Given the description of an element on the screen output the (x, y) to click on. 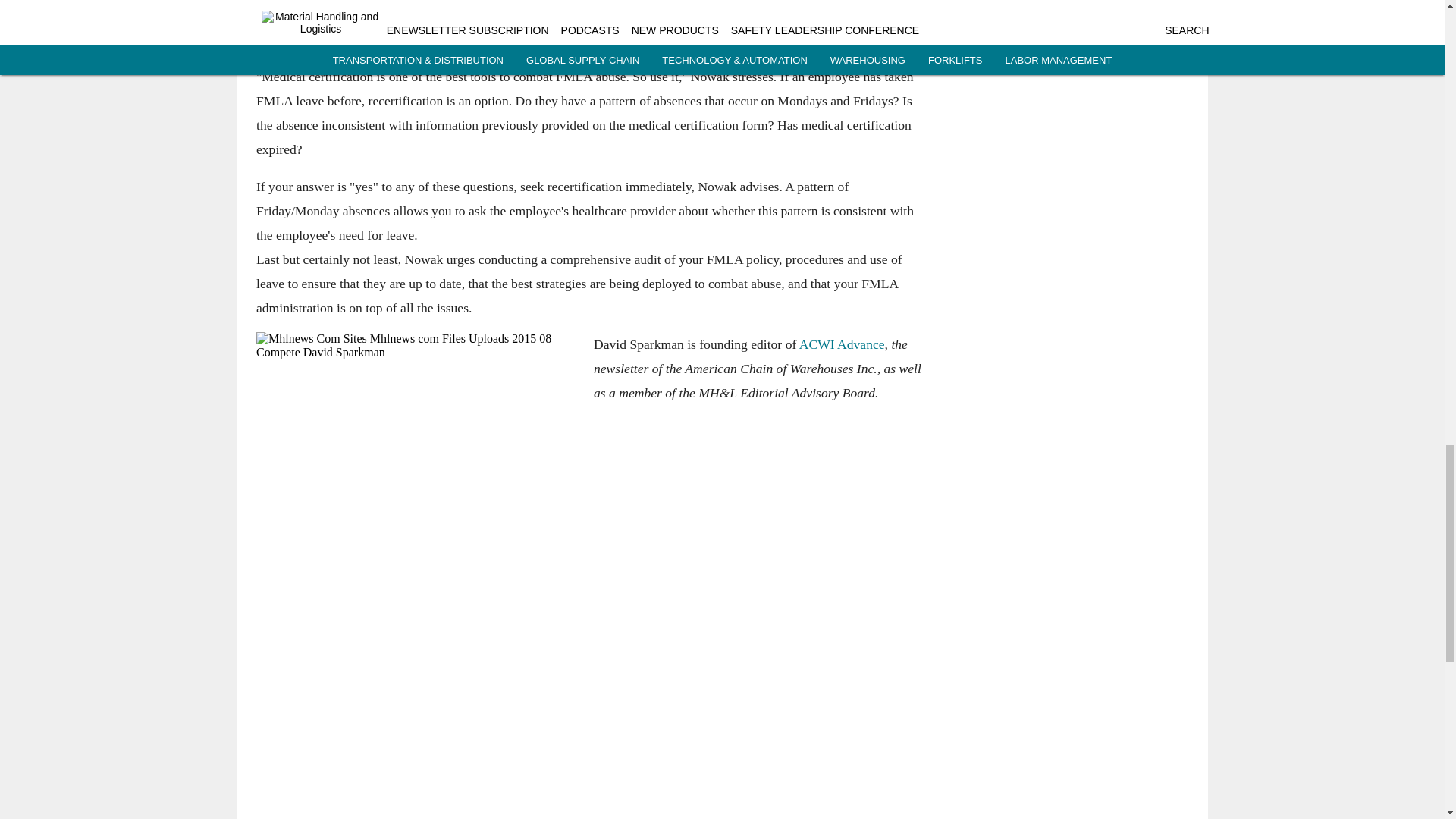
ACWI Advance (840, 344)
